Given the description of an element on the screen output the (x, y) to click on. 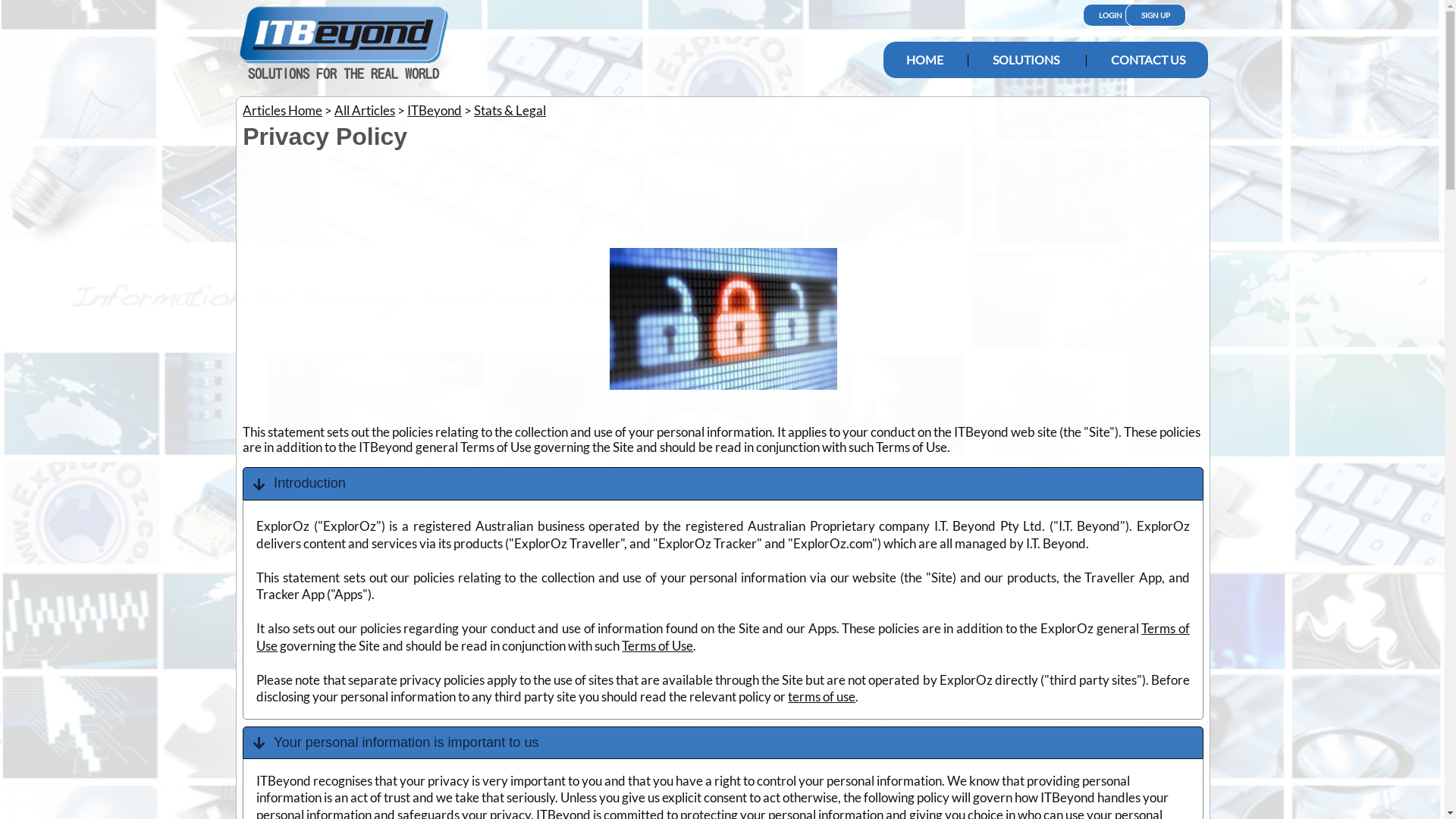
Terms of Use Element type: text (722, 636)
All Articles Element type: text (364, 110)
HOME Element type: text (923, 59)
Stats & Legal Element type: text (509, 110)
SIGN UP Element type: text (1154, 14)
terms of use Element type: text (821, 696)
Articles Home Element type: text (282, 110)
ITBeyond Element type: text (434, 110)
LOGIN Element type: text (1115, 14)
Terms of Use Element type: text (657, 645)
SOLUTIONS Element type: text (1025, 59)
CONTACT US Element type: text (1147, 59)
